Given the description of an element on the screen output the (x, y) to click on. 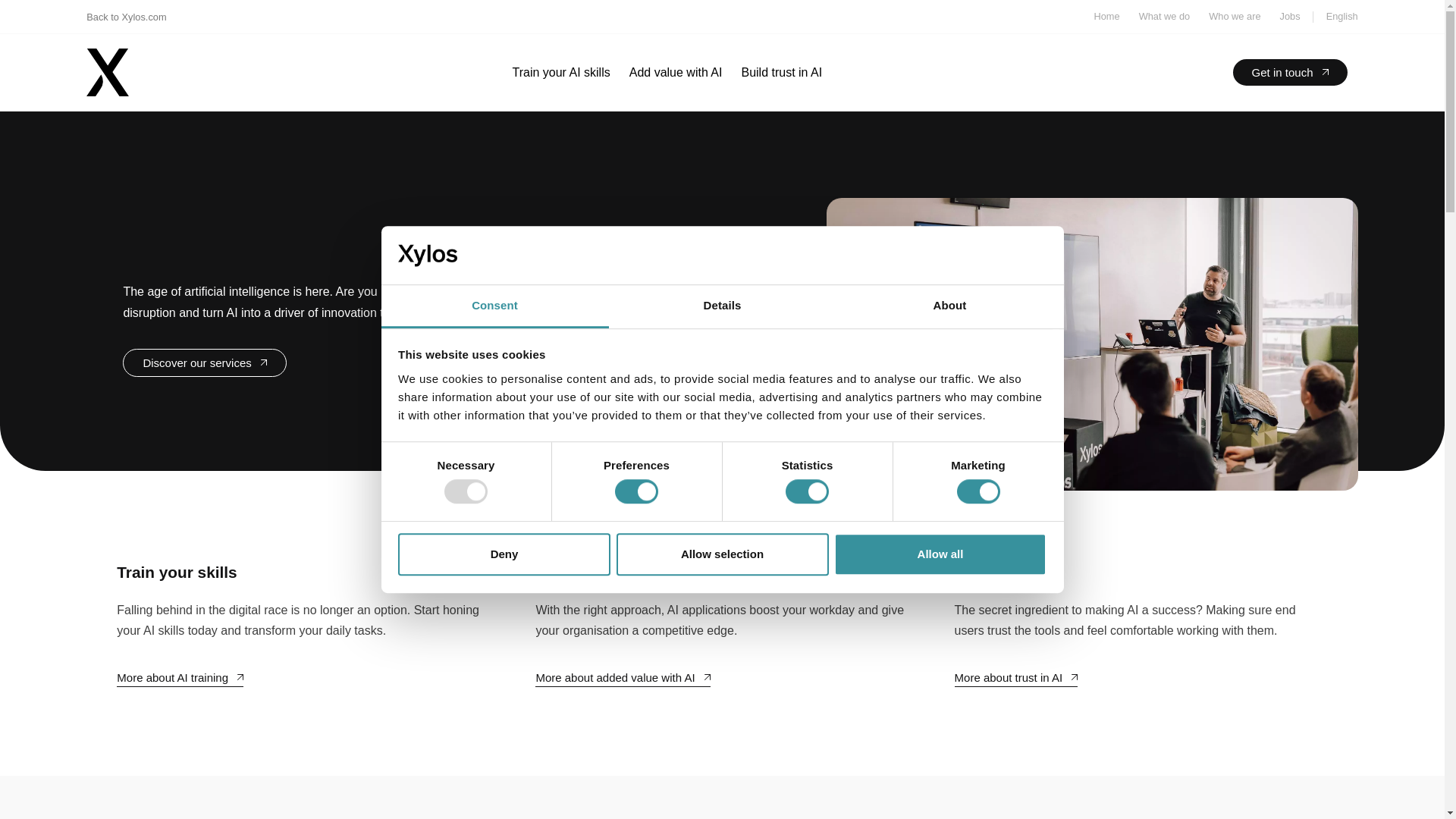
Consent (494, 306)
About (948, 306)
Details (721, 306)
